Given the description of an element on the screen output the (x, y) to click on. 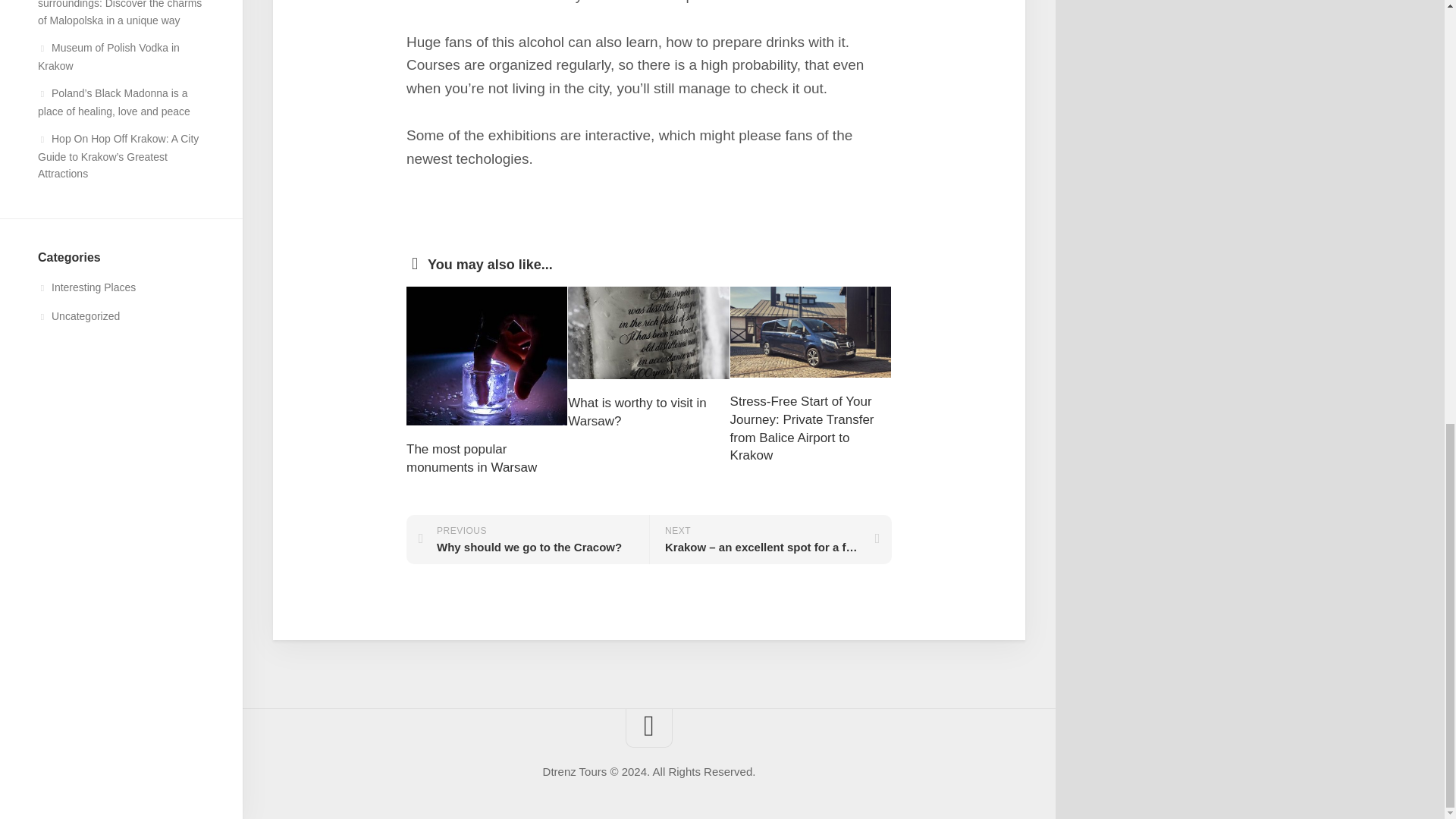
Uncategorized (78, 316)
Museum of Polish Vodka in Krakow (108, 56)
Interesting Places (86, 287)
What is worthy to visit in Warsaw? (636, 411)
The most popular monuments in Warsaw (471, 458)
